Given the description of an element on the screen output the (x, y) to click on. 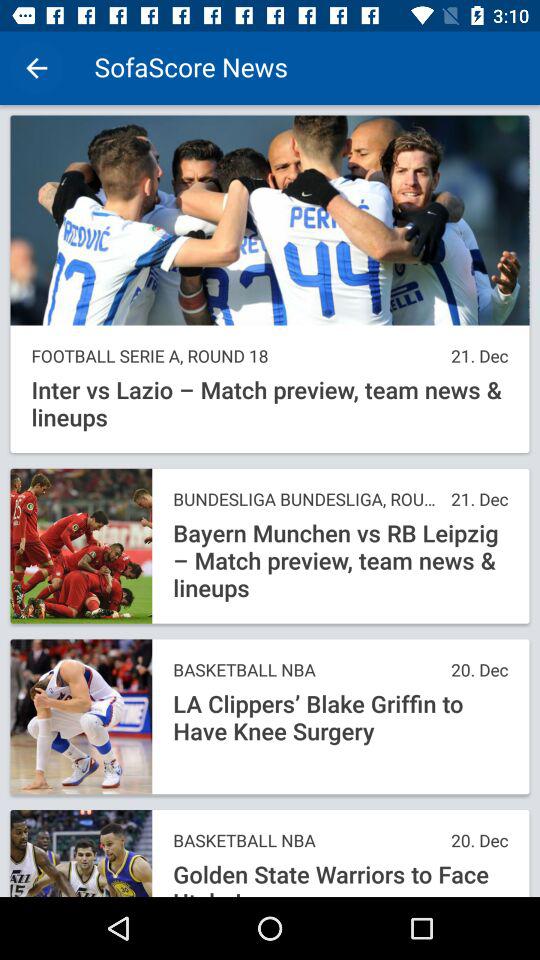
select icon above the basketball nba  icon (340, 718)
